Given the description of an element on the screen output the (x, y) to click on. 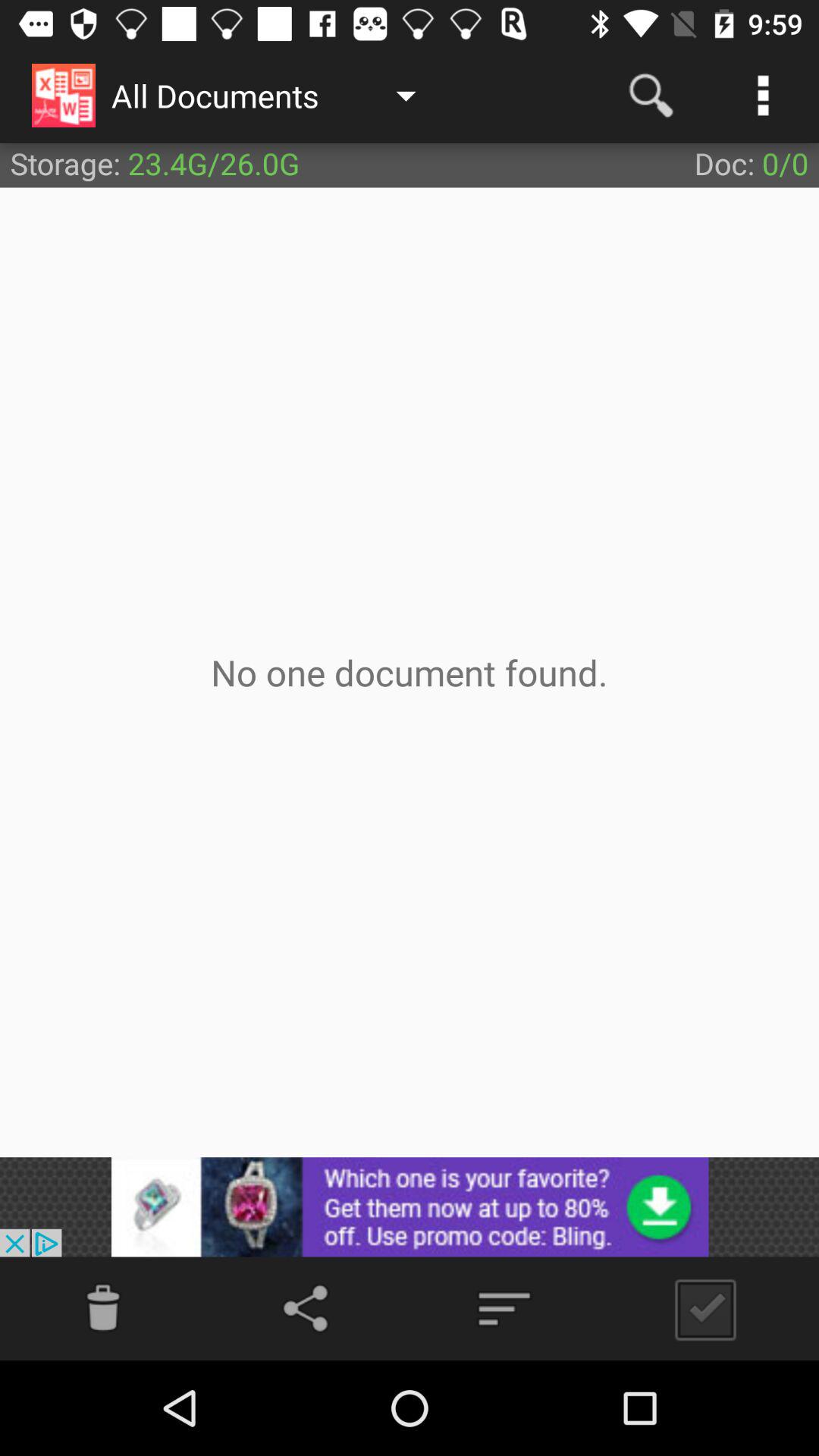
select button (699, 1308)
